Given the description of an element on the screen output the (x, y) to click on. 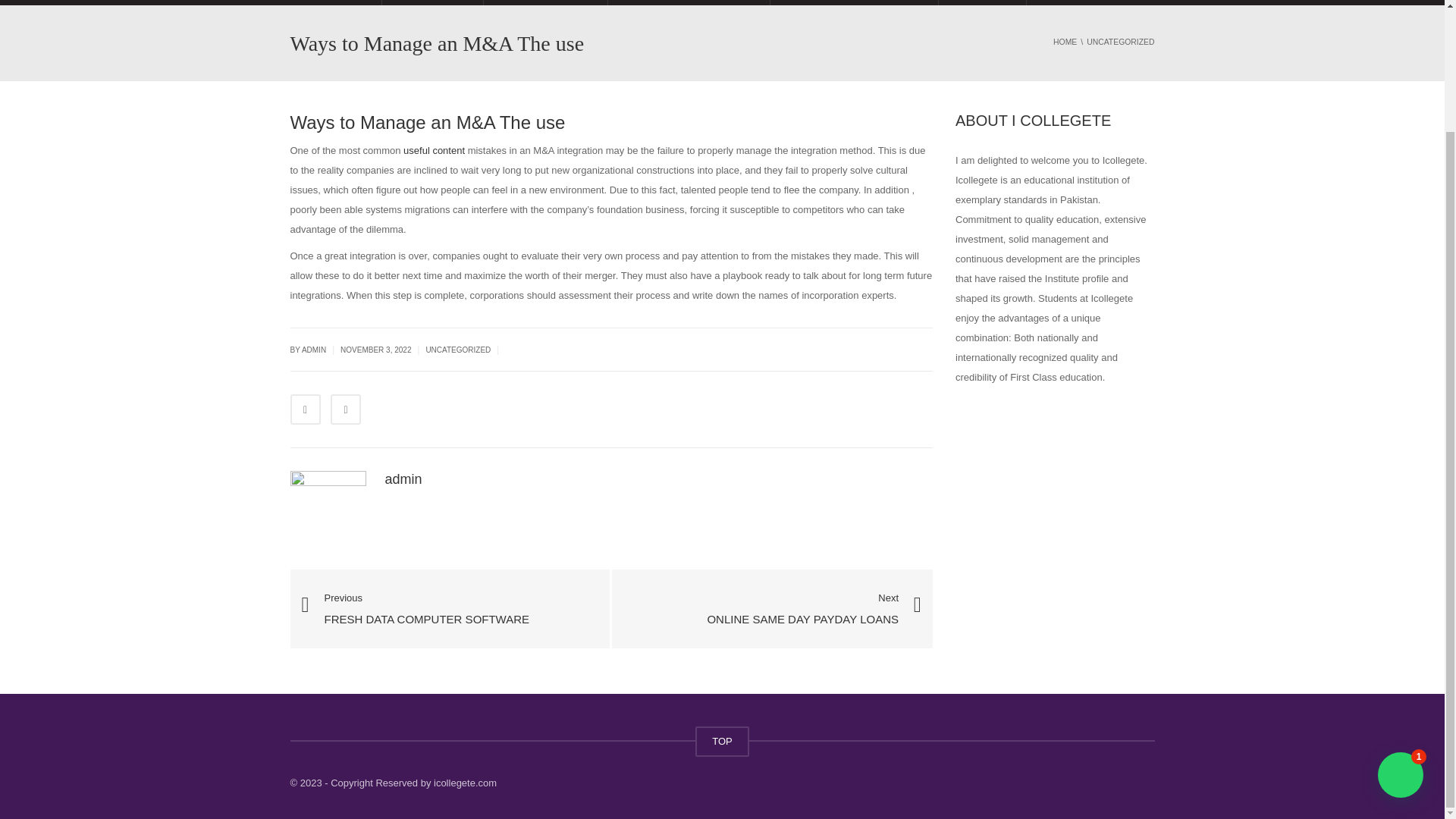
CONTACT US (1083, 2)
Fresh Data Computer software (449, 607)
admin (449, 607)
Share on Facebook (403, 478)
Share on Twitter (802, 610)
EVENTS (304, 409)
OUR COURSES (345, 409)
useful content (981, 2)
